Given the description of an element on the screen output the (x, y) to click on. 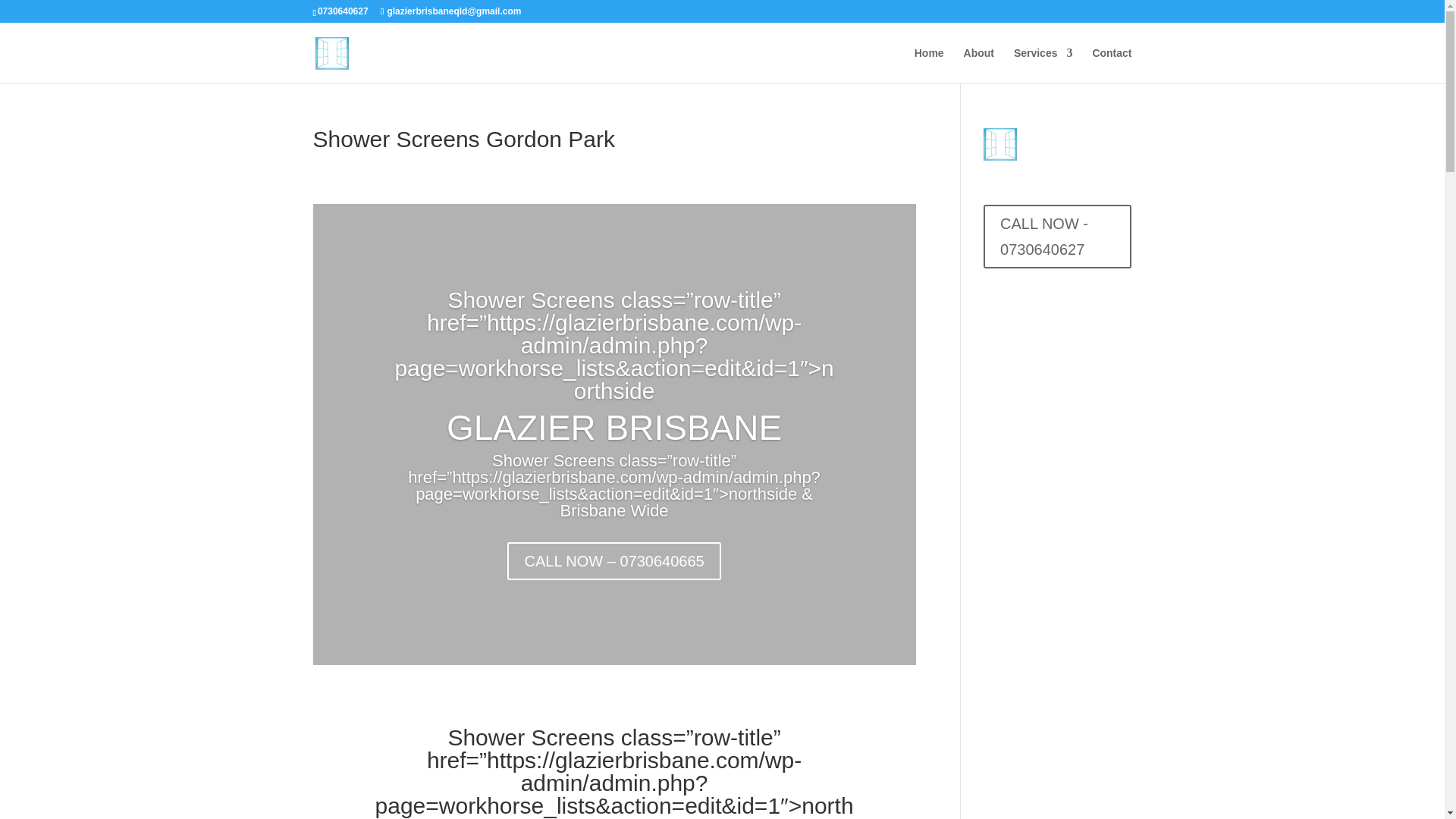
CALL NOW - 0730640627 (1057, 236)
Services (1043, 65)
Contact (1111, 65)
